Given the description of an element on the screen output the (x, y) to click on. 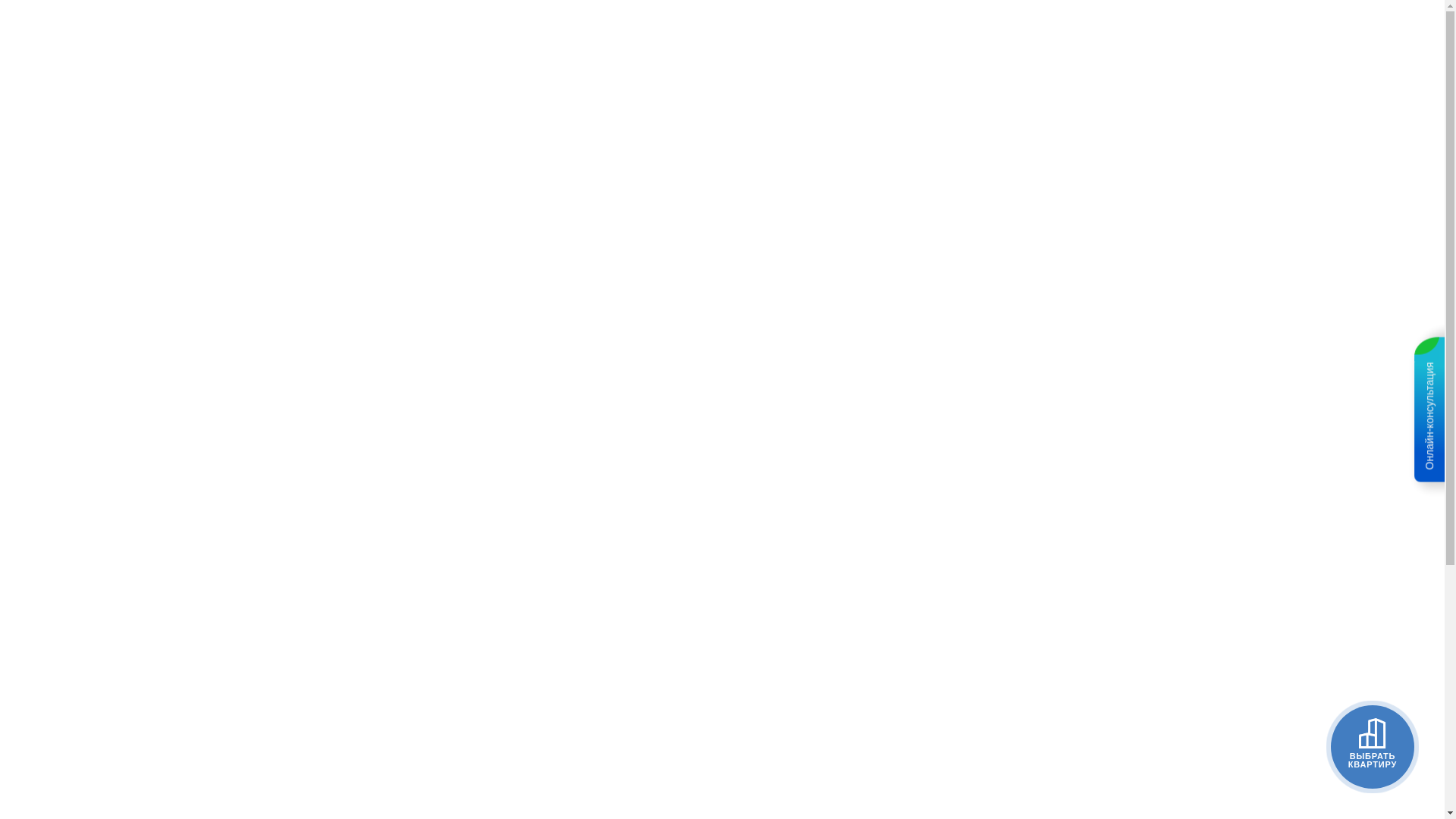
+375 44 561 86 18 Element type: text (641, 325)
EMAIL
info@bucc.by Element type: text (609, 457)
+375 33 661 86 18 Element type: text (436, 450)
7689 Element type: text (475, 325)
